Given the description of an element on the screen output the (x, y) to click on. 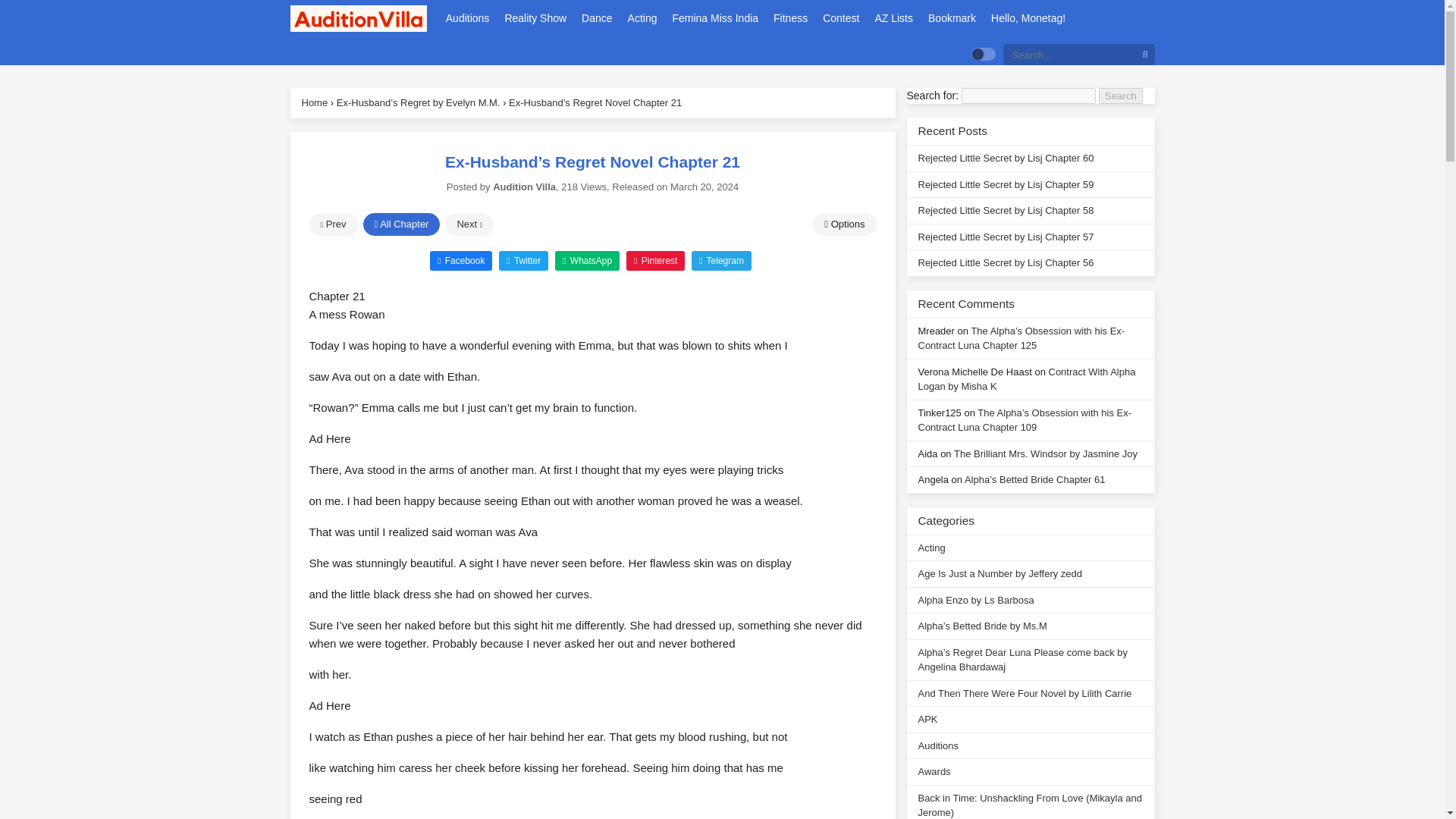
All Chapter (400, 223)
Home (315, 102)
Hello, Monetag! (1027, 18)
Pinterest (655, 260)
Acting (642, 18)
Rejected Little Secret by Lisj Chapter 59 (1005, 184)
Next (469, 223)
Bookmark (951, 18)
Fitness (790, 18)
AZ Lists (893, 18)
Twitter (523, 260)
Search (1120, 95)
WhatsApp (587, 260)
Search (1120, 95)
Femina Miss India (714, 18)
